Given the description of an element on the screen output the (x, y) to click on. 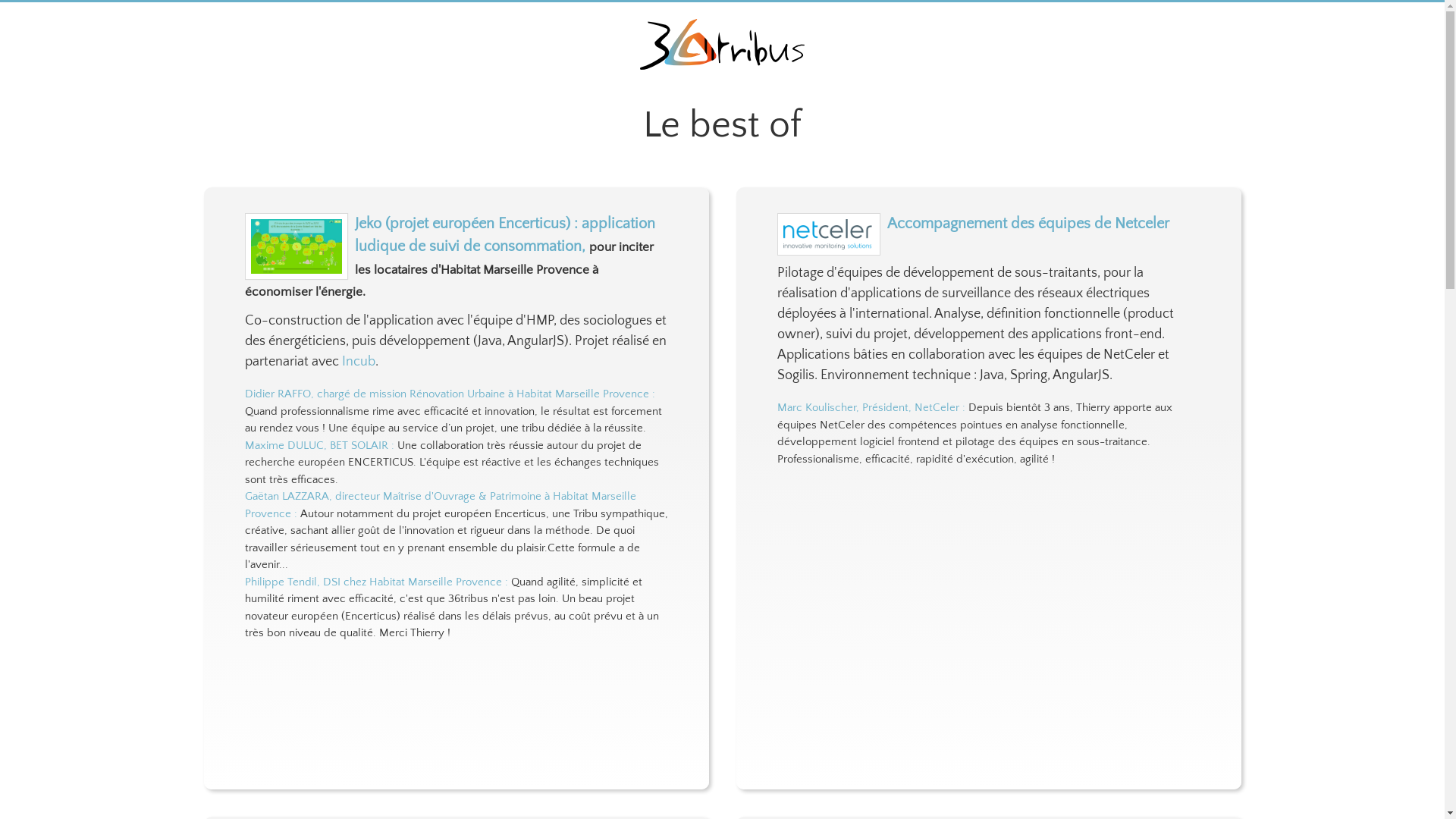
Incub Element type: text (357, 361)
